Given the description of an element on the screen output the (x, y) to click on. 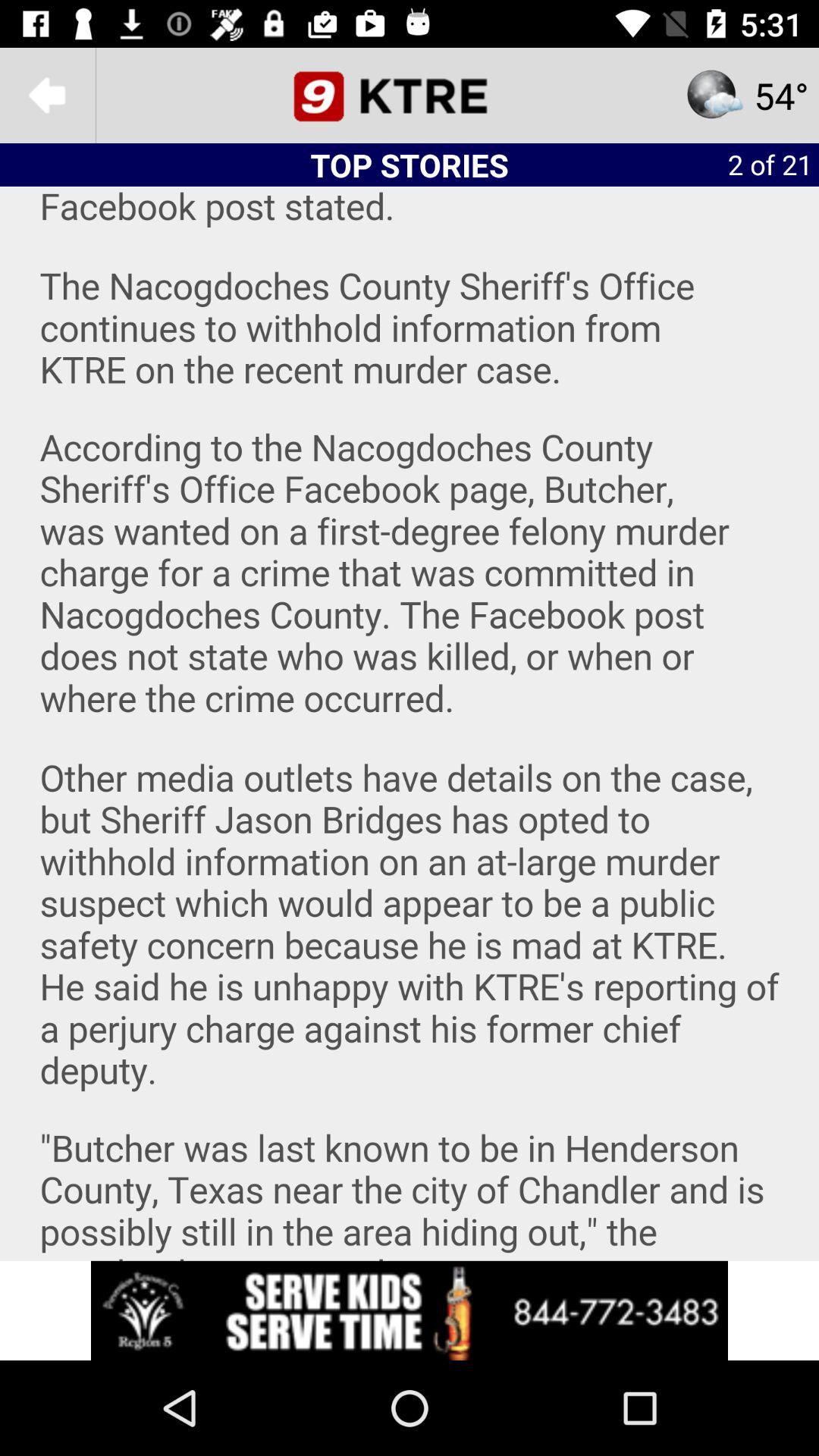
back (47, 95)
